Given the description of an element on the screen output the (x, y) to click on. 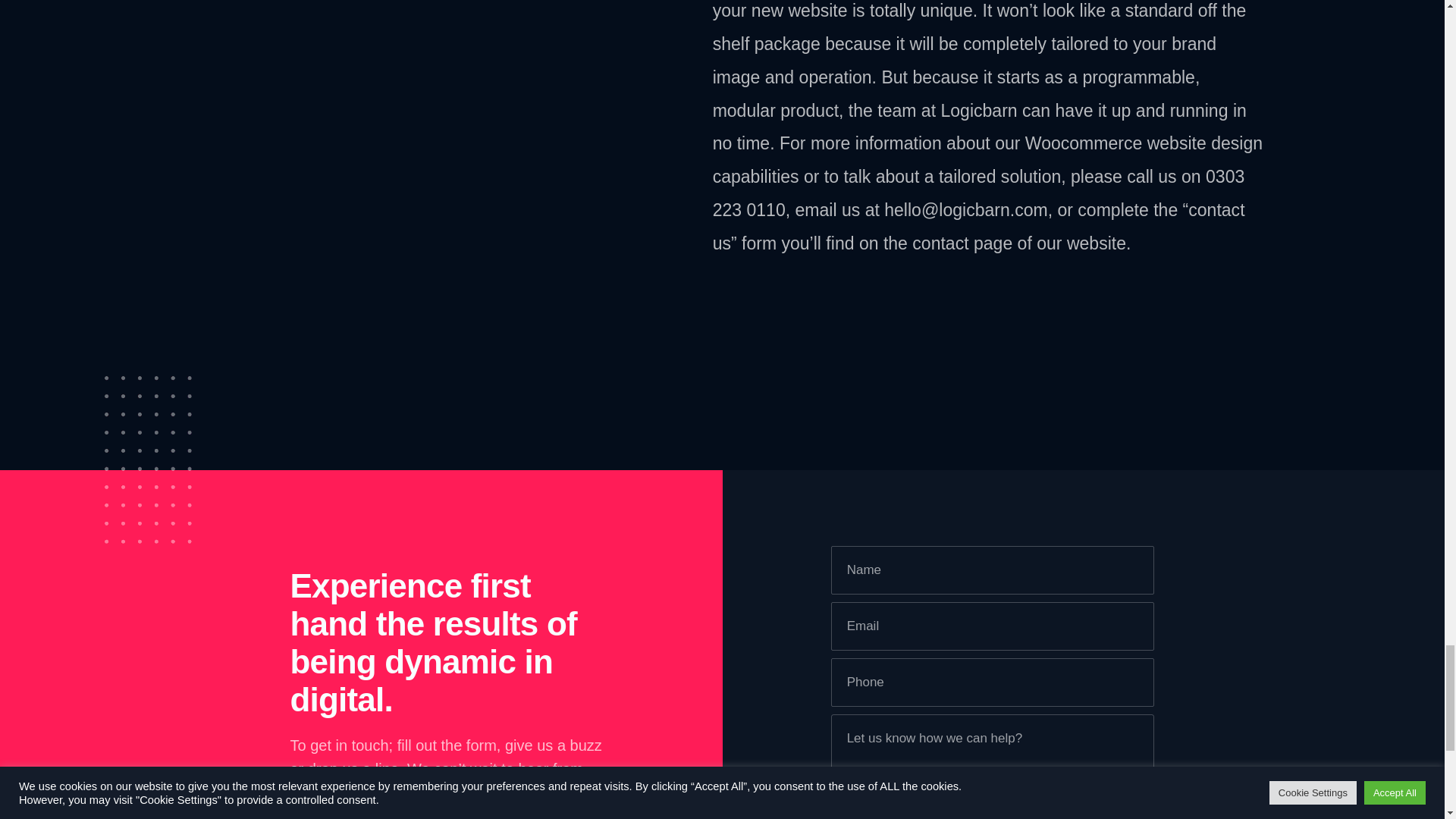
WooCommerce E-Commerce Design 6 (148, 458)
